Given the description of an element on the screen output the (x, y) to click on. 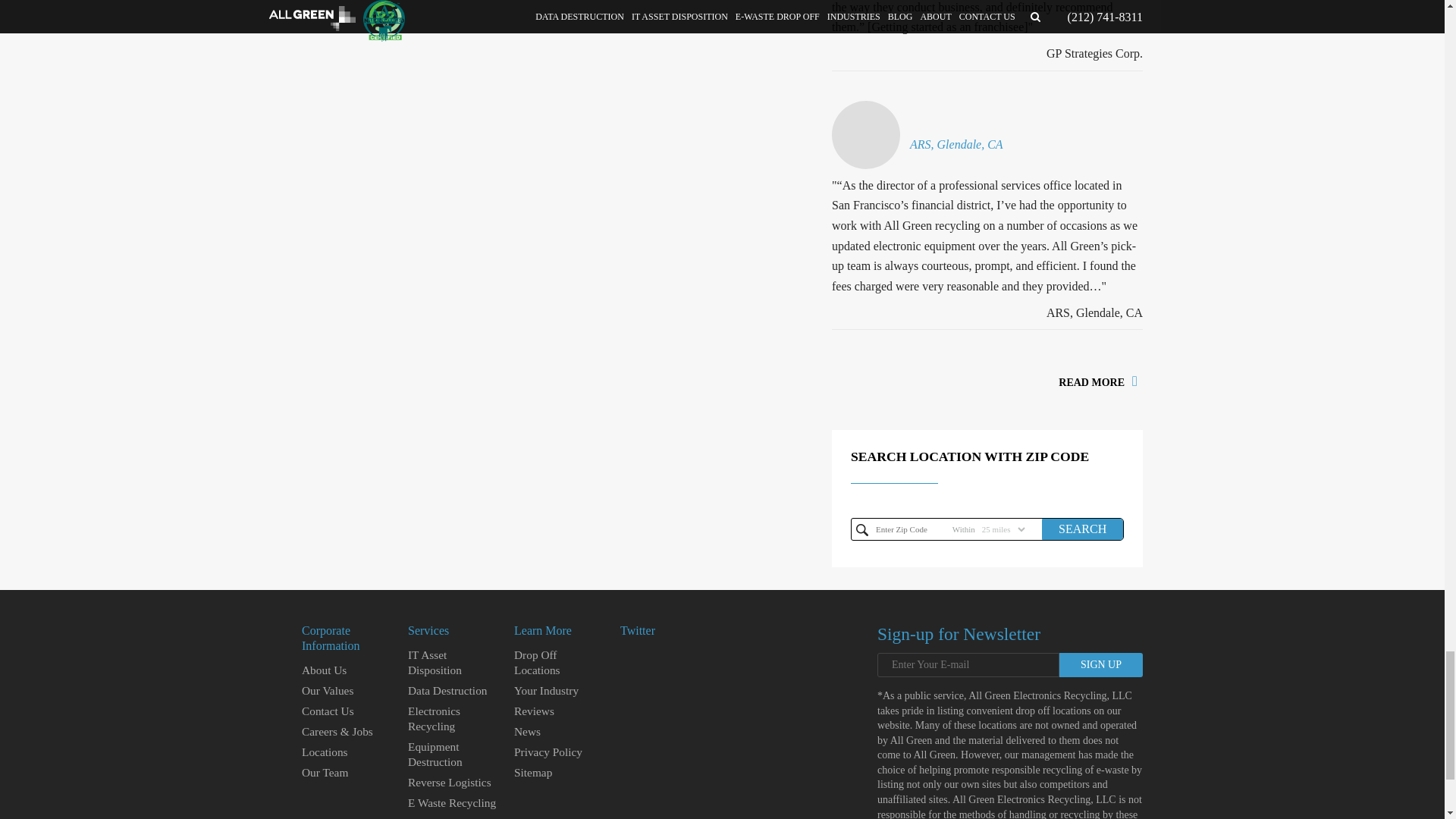
Sign Up (1100, 664)
Ars, glendale, ca 9 (865, 134)
